Given the description of an element on the screen output the (x, y) to click on. 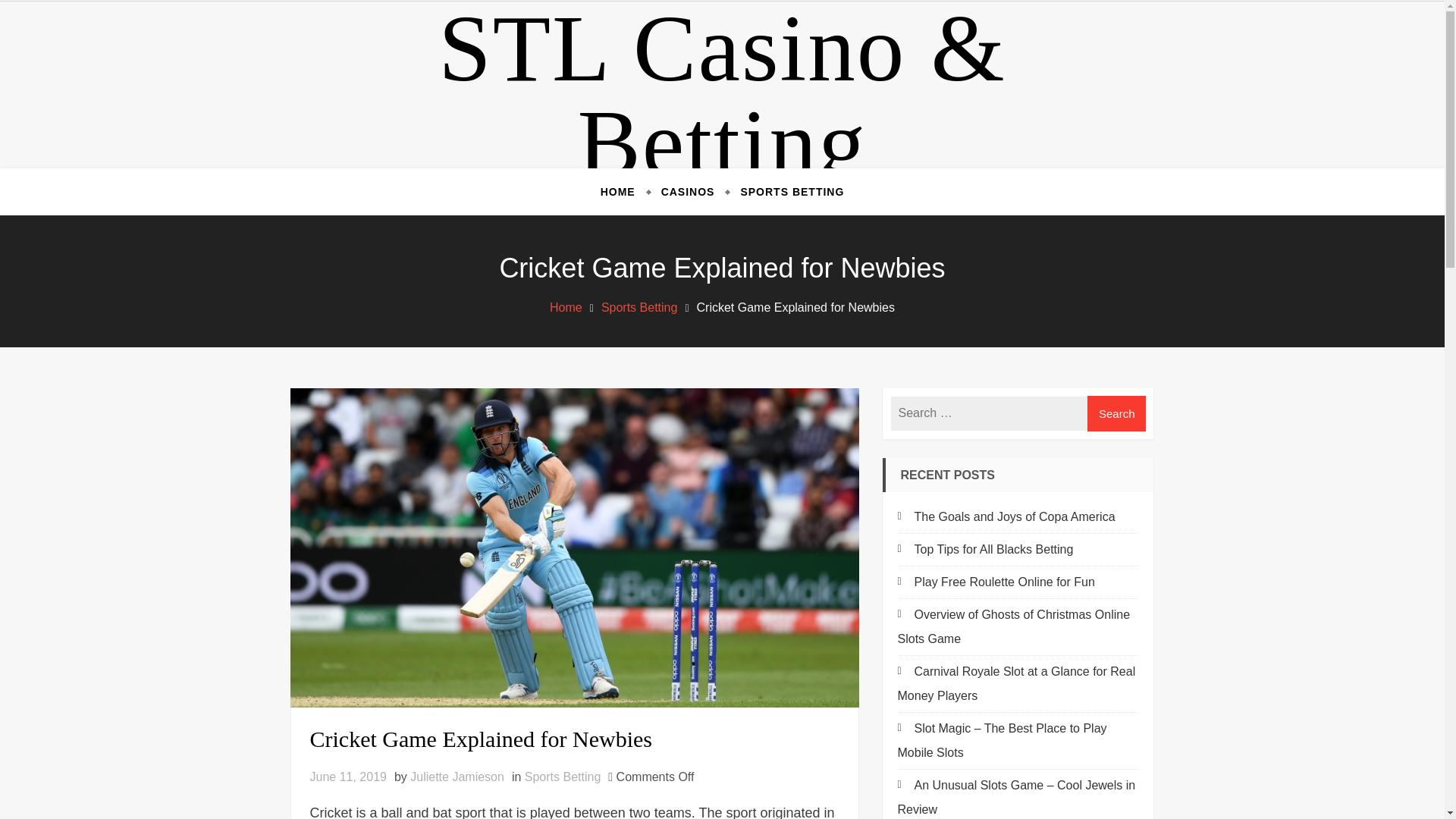
Play Free Roulette Online for Fun (996, 581)
Top Tips for All Blacks Betting (986, 549)
Overview of Ghosts of Christmas Online Slots Game (1014, 626)
Cricket Game Explained for Newbies (573, 738)
Sports Betting (562, 776)
Carnival Royale Slot at a Glance for Real Money Players (1016, 683)
Search (1117, 413)
Home (566, 307)
The Goals and Joys of Copa America (1006, 516)
SPORTS BETTING (785, 191)
